Given the description of an element on the screen output the (x, y) to click on. 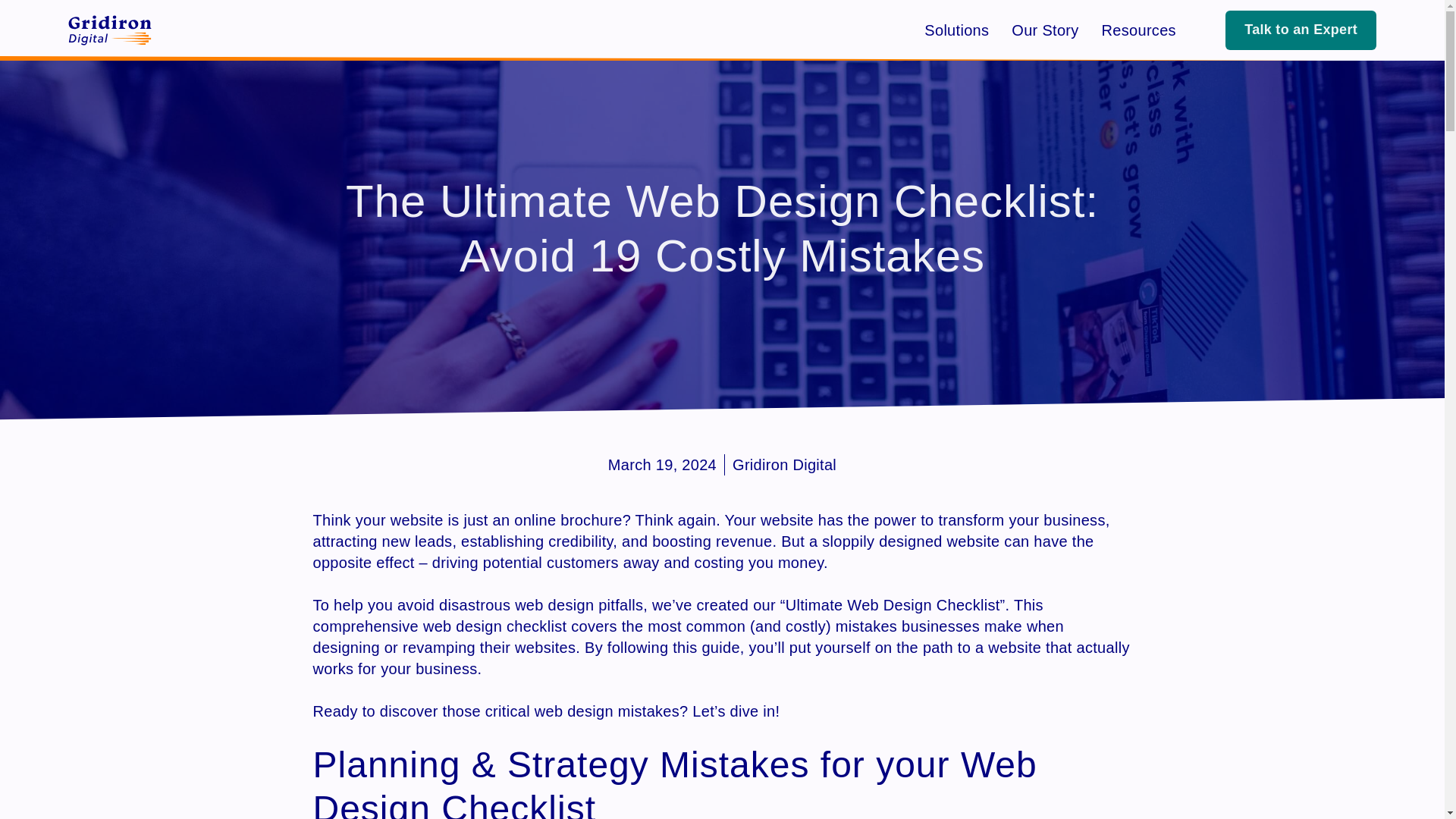
Our Story (1044, 30)
Solutions (956, 30)
Talk to an Expert (1300, 29)
Gridiron Digital SVG Logo (109, 30)
Resources (1139, 30)
Gridiron Digital (783, 464)
